Given the description of an element on the screen output the (x, y) to click on. 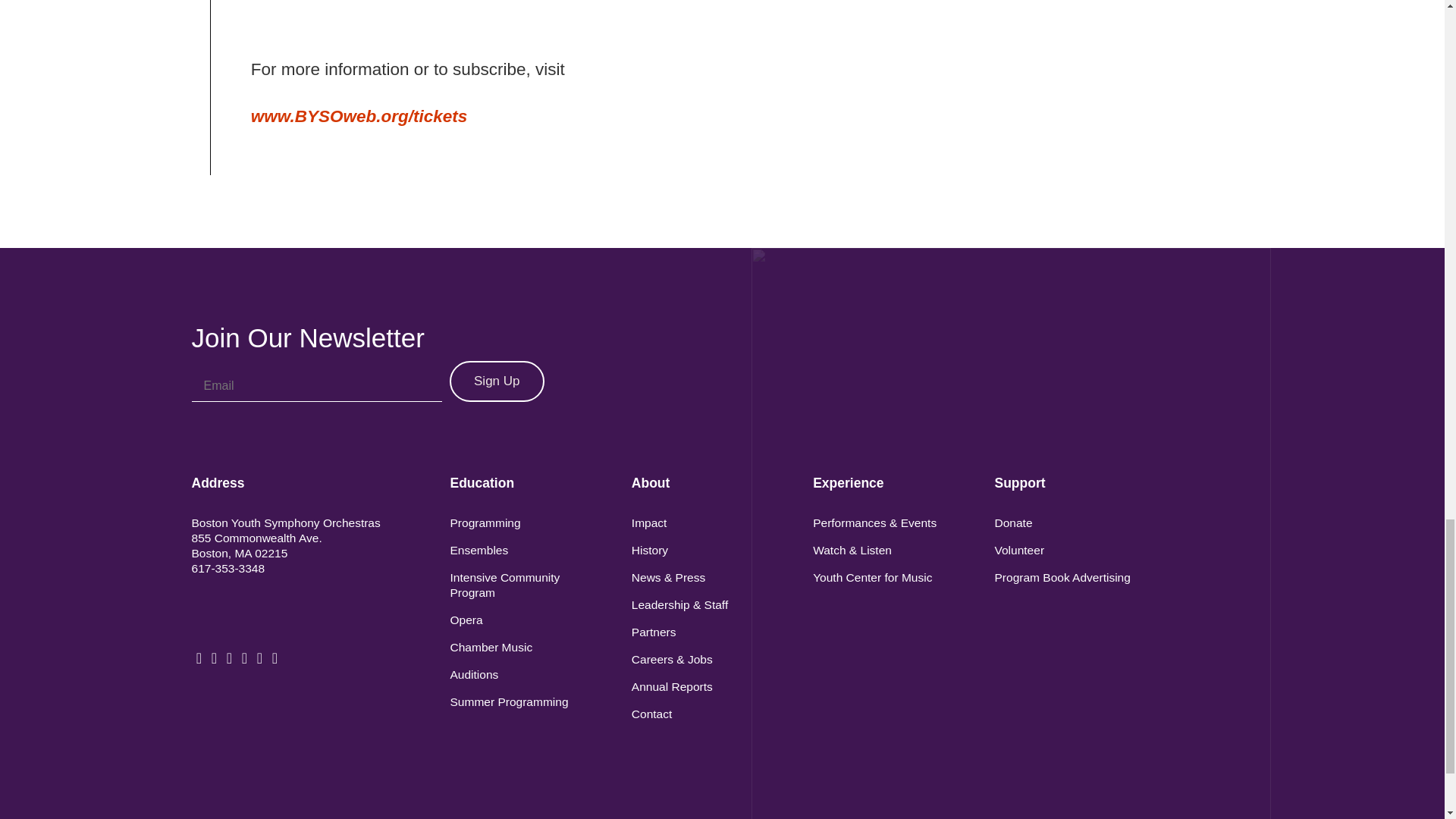
Sign Up (496, 381)
